Given the description of an element on the screen output the (x, y) to click on. 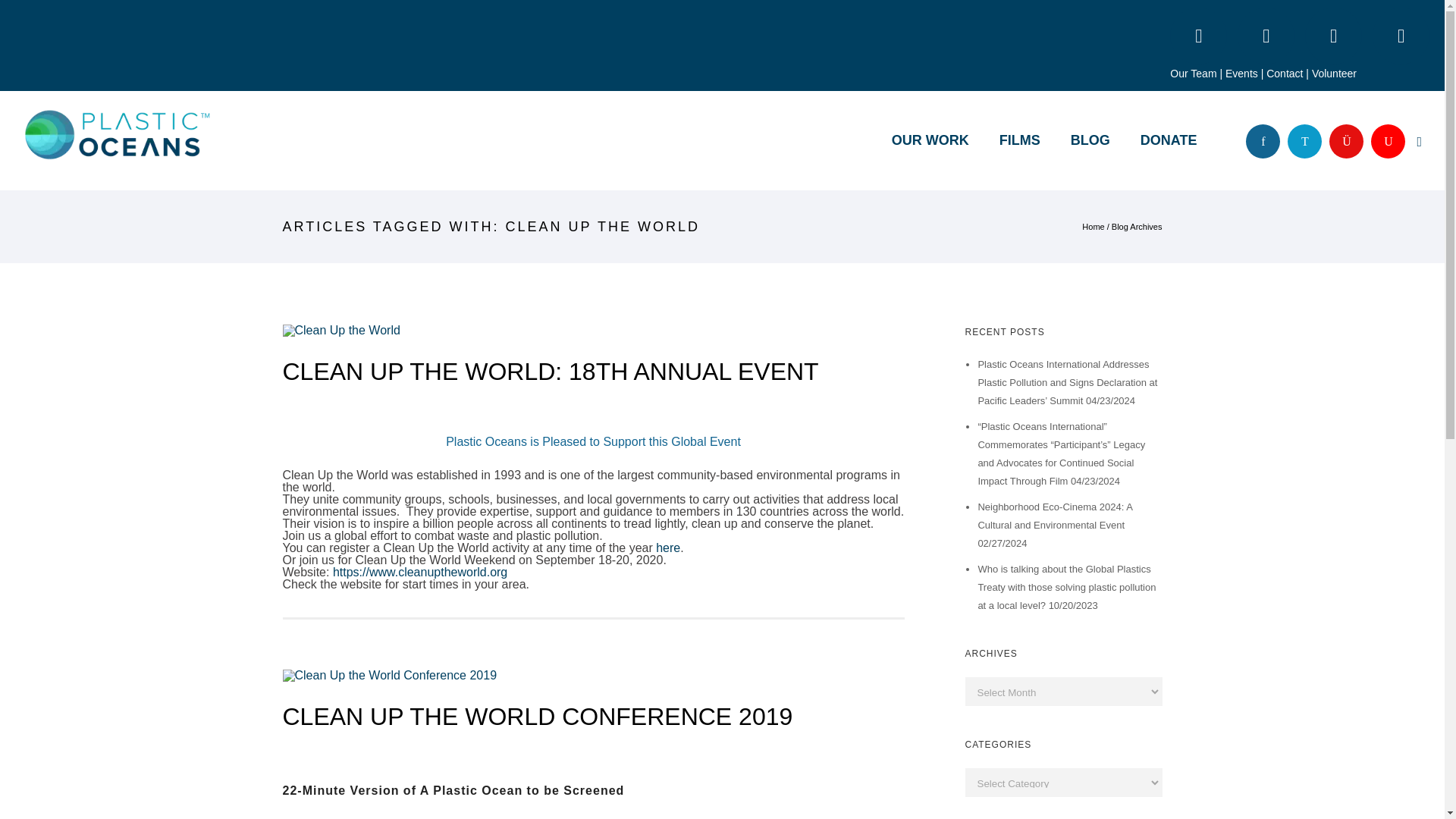
CLEAN UP THE WORLD: 18TH ANNUAL EVENT (550, 371)
DONATE (1168, 140)
FILMS (1019, 140)
Contact (1284, 73)
here (667, 547)
CLEAN UP THE WORLD CONFERENCE 2019 (537, 716)
Home (1092, 225)
Our Team (1192, 73)
Blog (1090, 140)
